Given the description of an element on the screen output the (x, y) to click on. 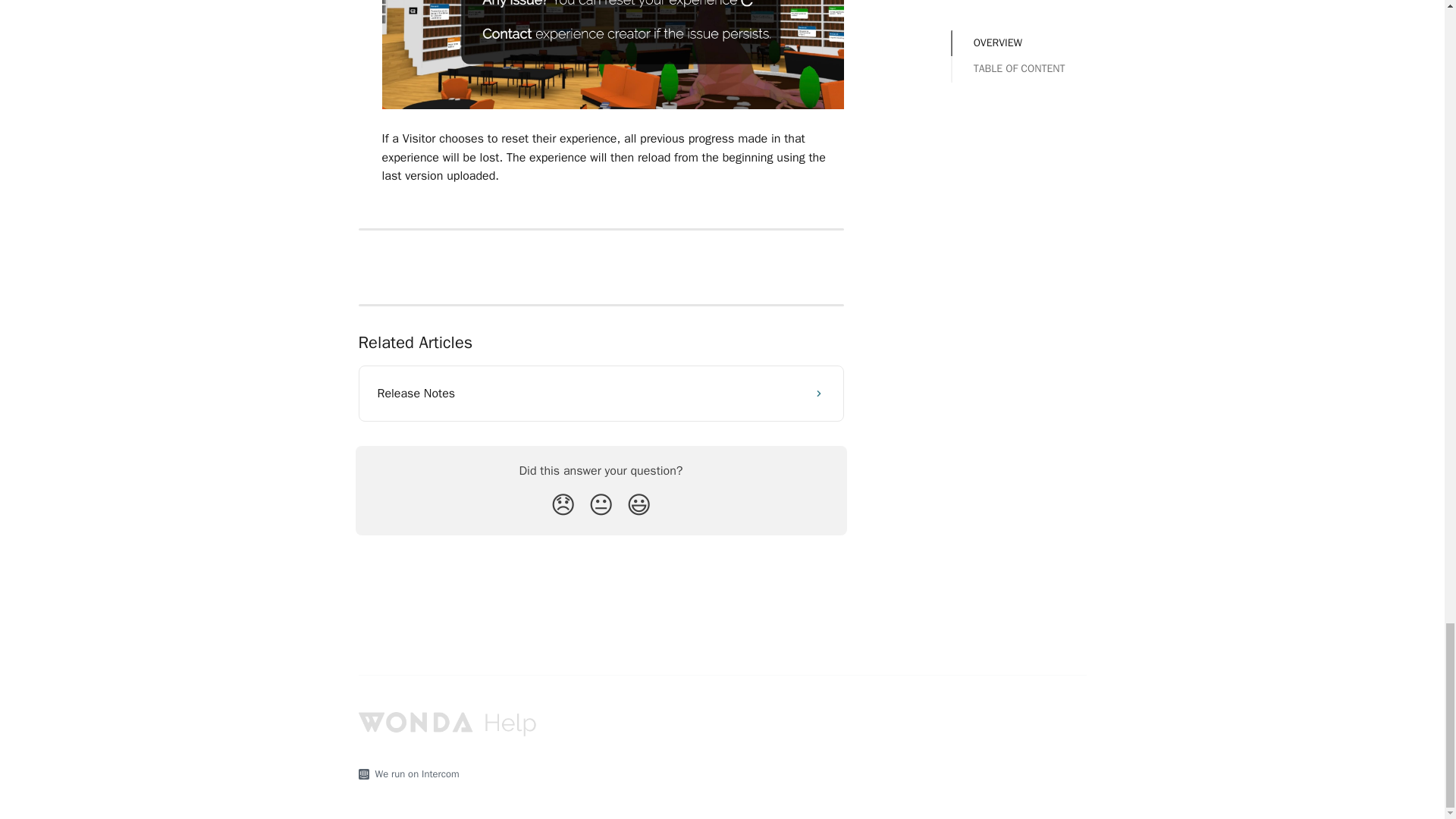
Smiley (638, 504)
Disappointed (562, 504)
Release Notes (601, 393)
We run on Intercom (413, 774)
Neutral (600, 504)
